Given the description of an element on the screen output the (x, y) to click on. 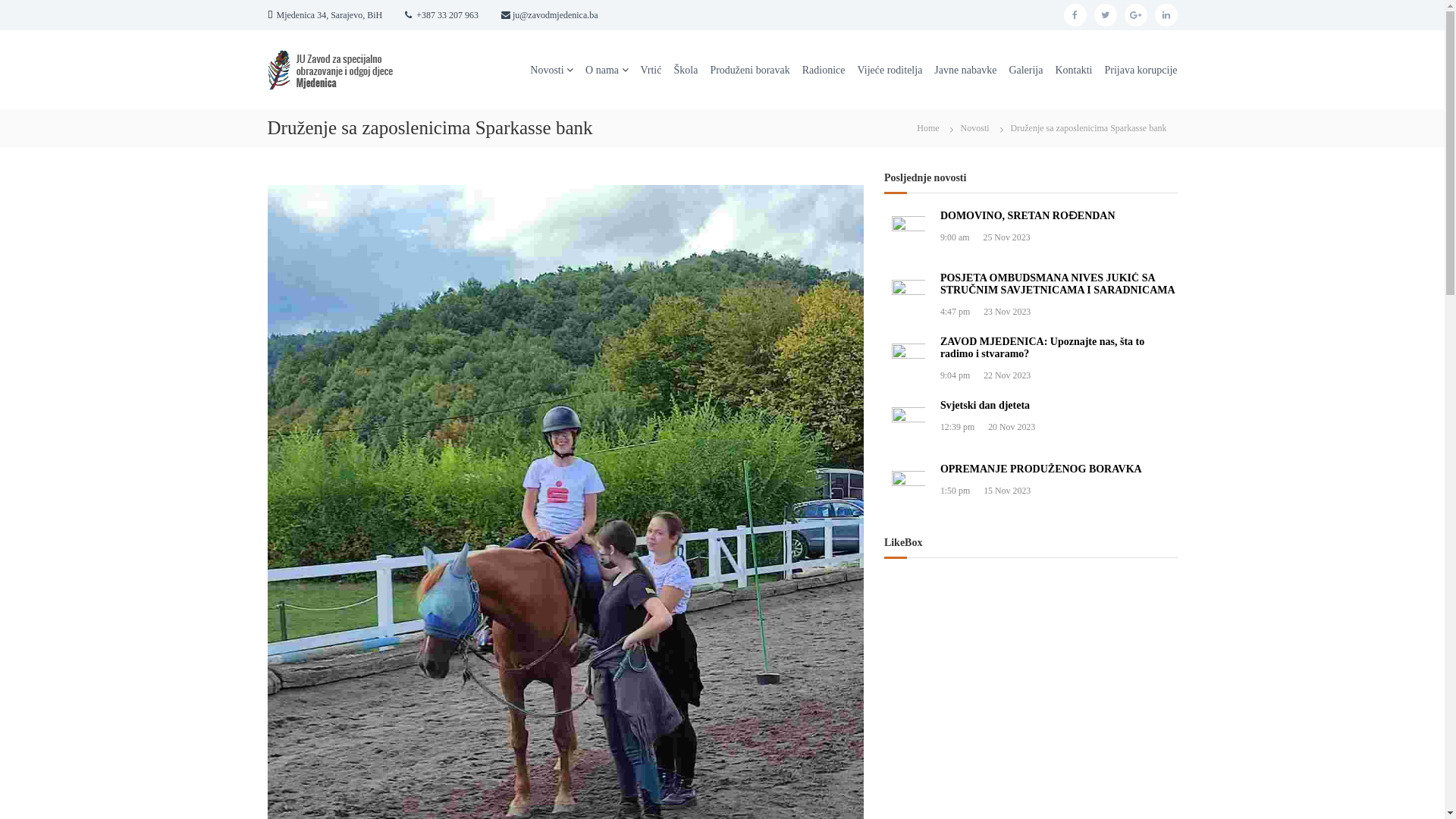
Prijava korupcije Element type: text (1140, 69)
Radionice Element type: text (823, 69)
ZAVOD MJEDENICA SARAJEVO Element type: text (409, 229)
Galerija Element type: text (1025, 69)
twitter Element type: text (1104, 14)
Javne nabavke Element type: text (965, 69)
Novosti Element type: text (974, 127)
Kontakti Element type: text (1073, 69)
Svjetski dan djeteta Element type: text (984, 404)
Novosti Element type: text (546, 69)
facebook Element type: text (1074, 14)
linkedin Element type: text (1165, 14)
O nama Element type: text (601, 69)
Home Element type: text (927, 127)
google plus Element type: text (1134, 14)
